Given the description of an element on the screen output the (x, y) to click on. 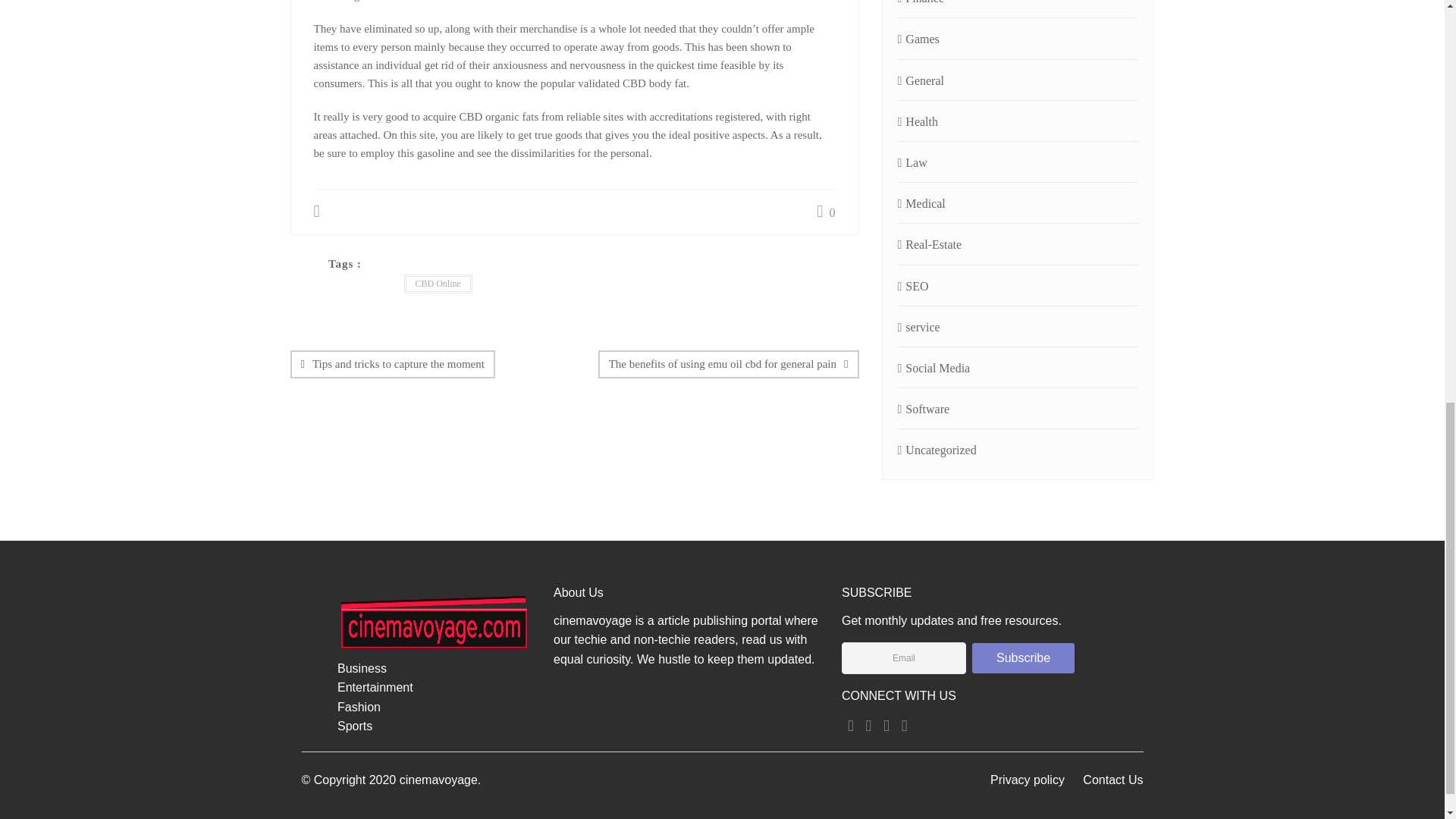
Games (918, 38)
Finance (921, 5)
The benefits of using emu oil cbd for general pain (728, 364)
CBD Online (437, 283)
Tips and tricks to capture the moment (392, 364)
